Given the description of an element on the screen output the (x, y) to click on. 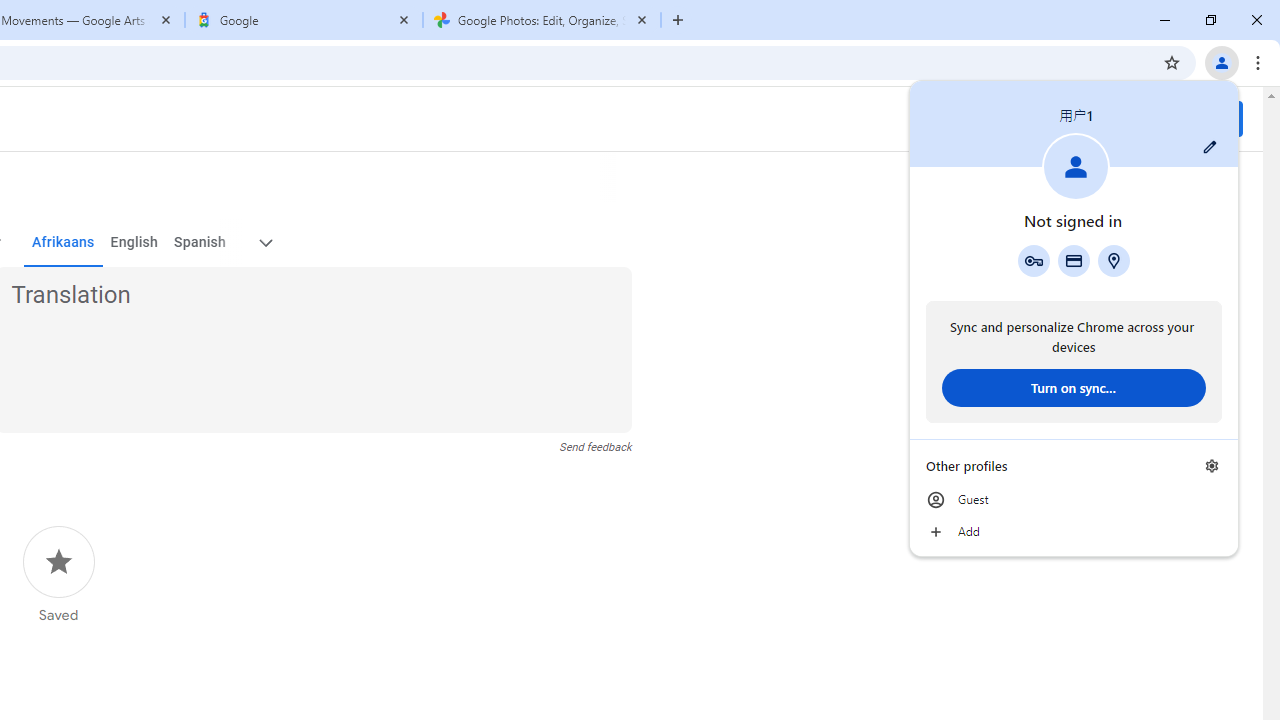
Send feedback (595, 447)
Addresses and more (1114, 260)
Manage profiles (1211, 465)
Add (1073, 531)
Saved (57, 575)
More target languages (264, 242)
